Given the description of an element on the screen output the (x, y) to click on. 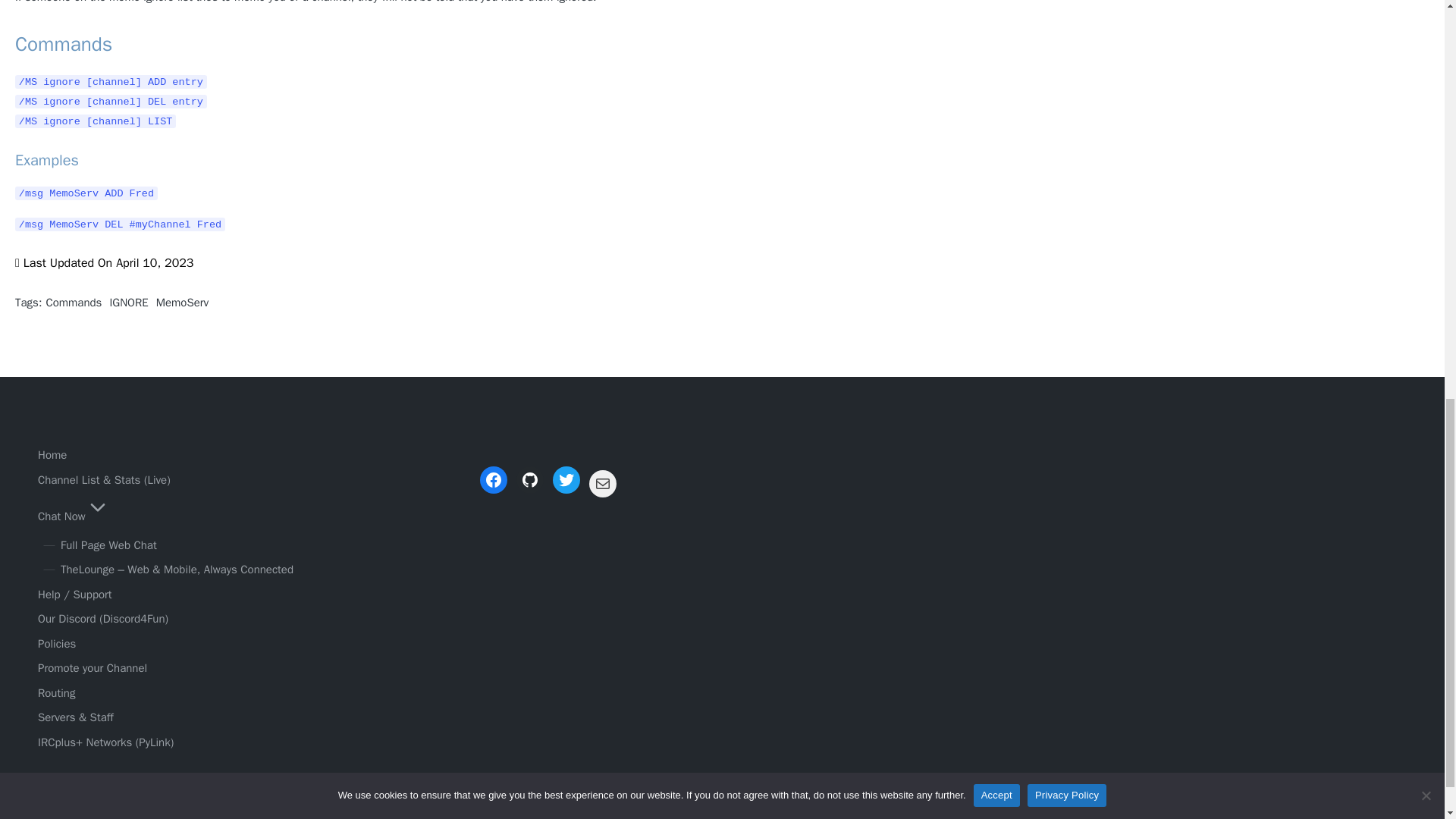
MemoServ (182, 302)
Chat Now (73, 516)
Full Page Web Chat (109, 545)
Home (51, 454)
Commands (73, 302)
IGNORE (128, 302)
